Given the description of an element on the screen output the (x, y) to click on. 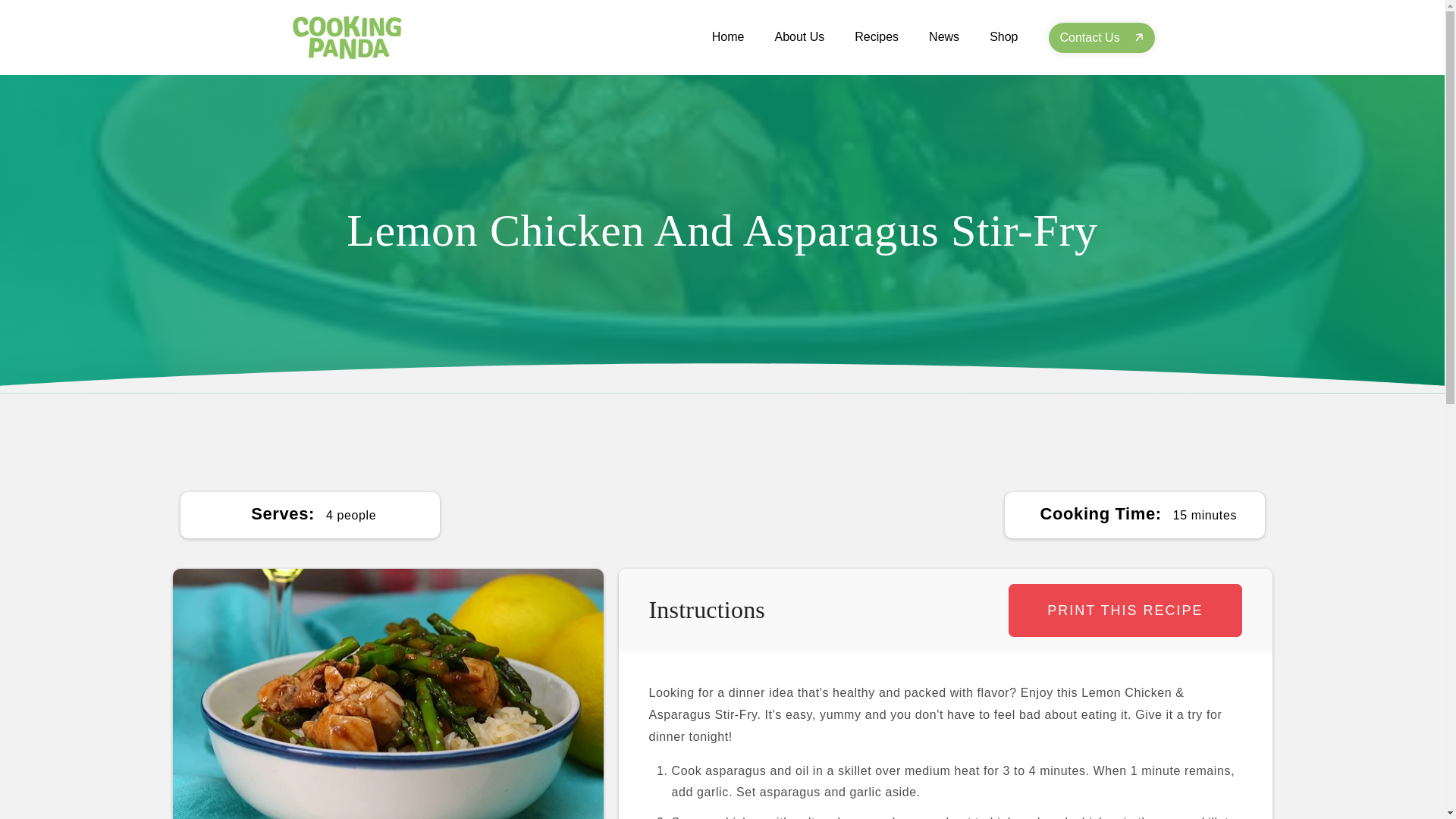
Contact Us (1101, 37)
Shop (1003, 36)
News (944, 36)
About Us (799, 36)
Recipes (877, 36)
Home (728, 36)
Skip to content (45, 22)
PRINT THIS RECIPE (1125, 610)
